Given the description of an element on the screen output the (x, y) to click on. 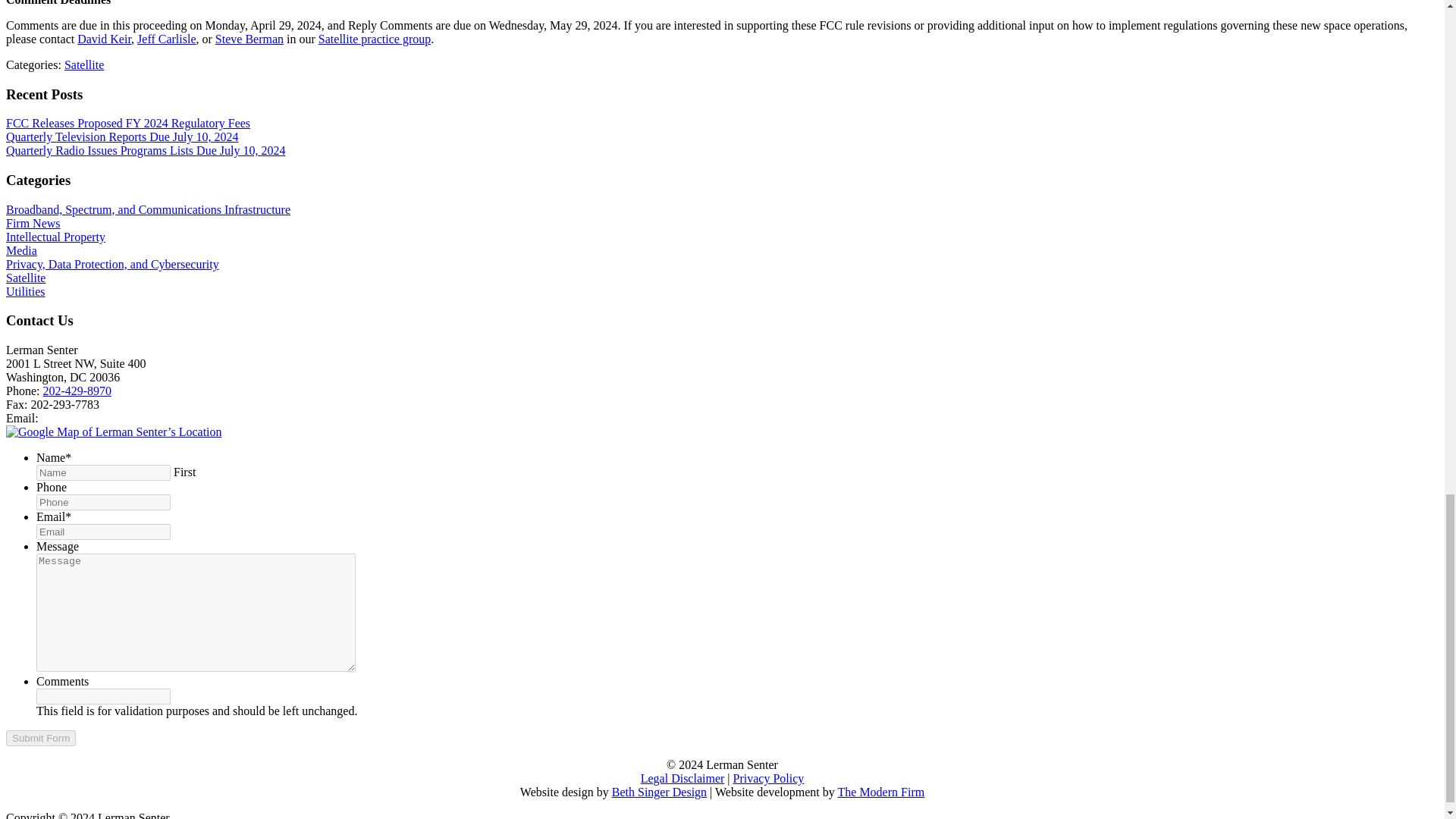
Click for more Satellite information (83, 64)
Jeff Carlisle (165, 38)
Steve Berman (249, 38)
Submit Form (40, 738)
Disclaimer (682, 778)
Law Firm Website Design (880, 791)
David Keir (104, 38)
Click to view this map on Google Maps (113, 431)
